Given the description of an element on the screen output the (x, y) to click on. 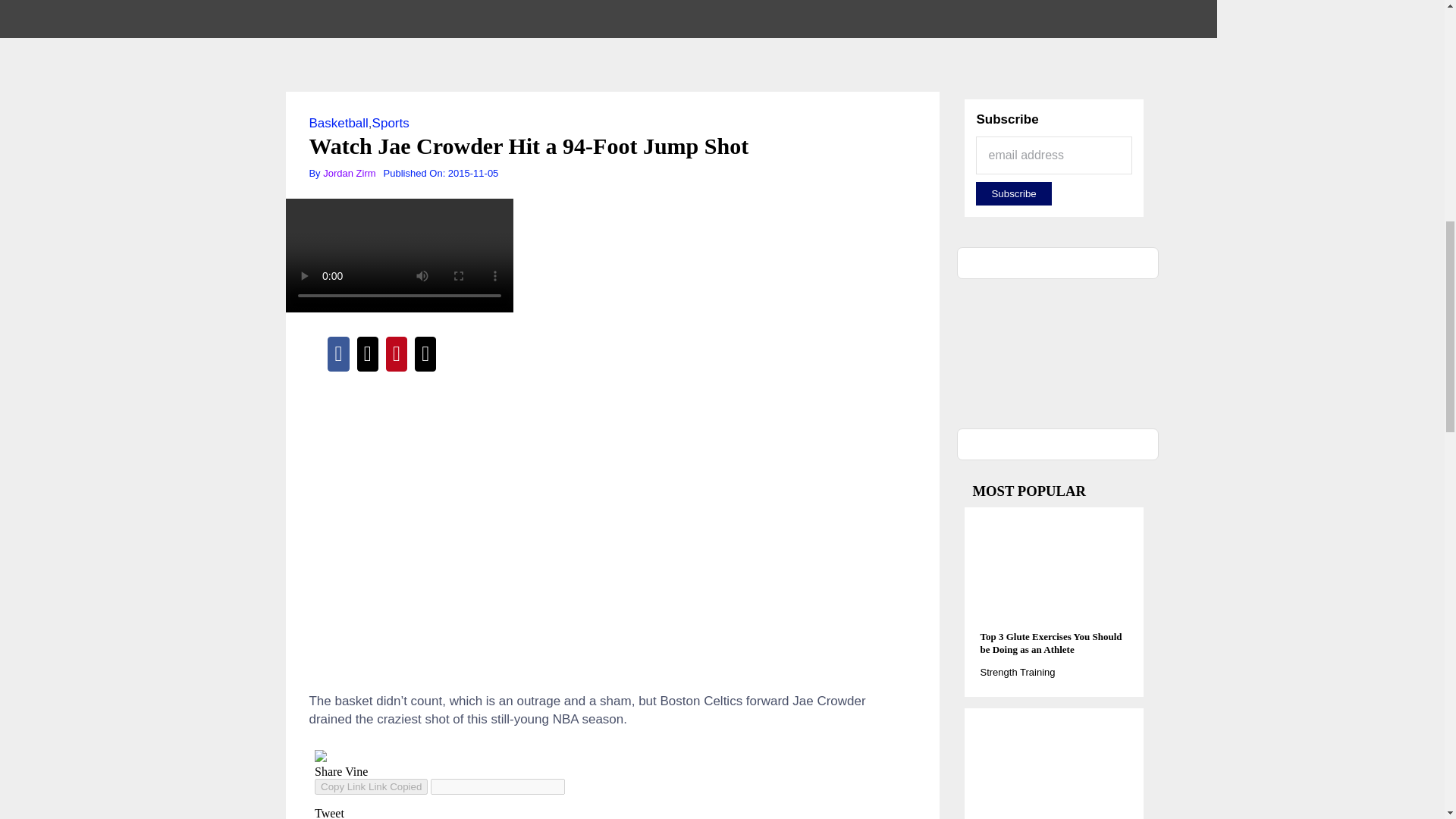
Sports (390, 123)
Subscribe (1013, 193)
Basketball (338, 123)
Posts by Jordan Zirm (349, 173)
